Given the description of an element on the screen output the (x, y) to click on. 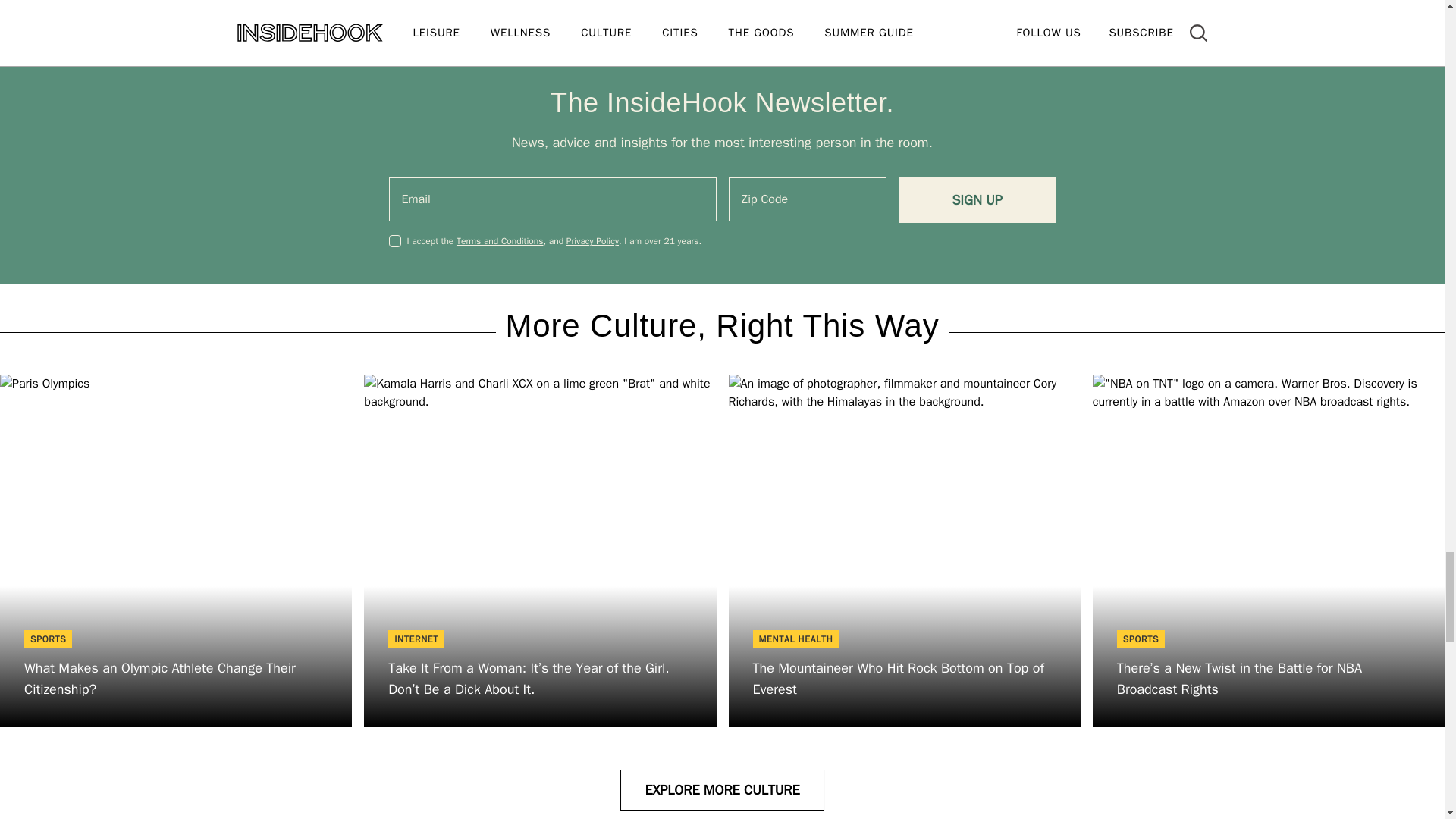
on (394, 241)
